Given the description of an element on the screen output the (x, y) to click on. 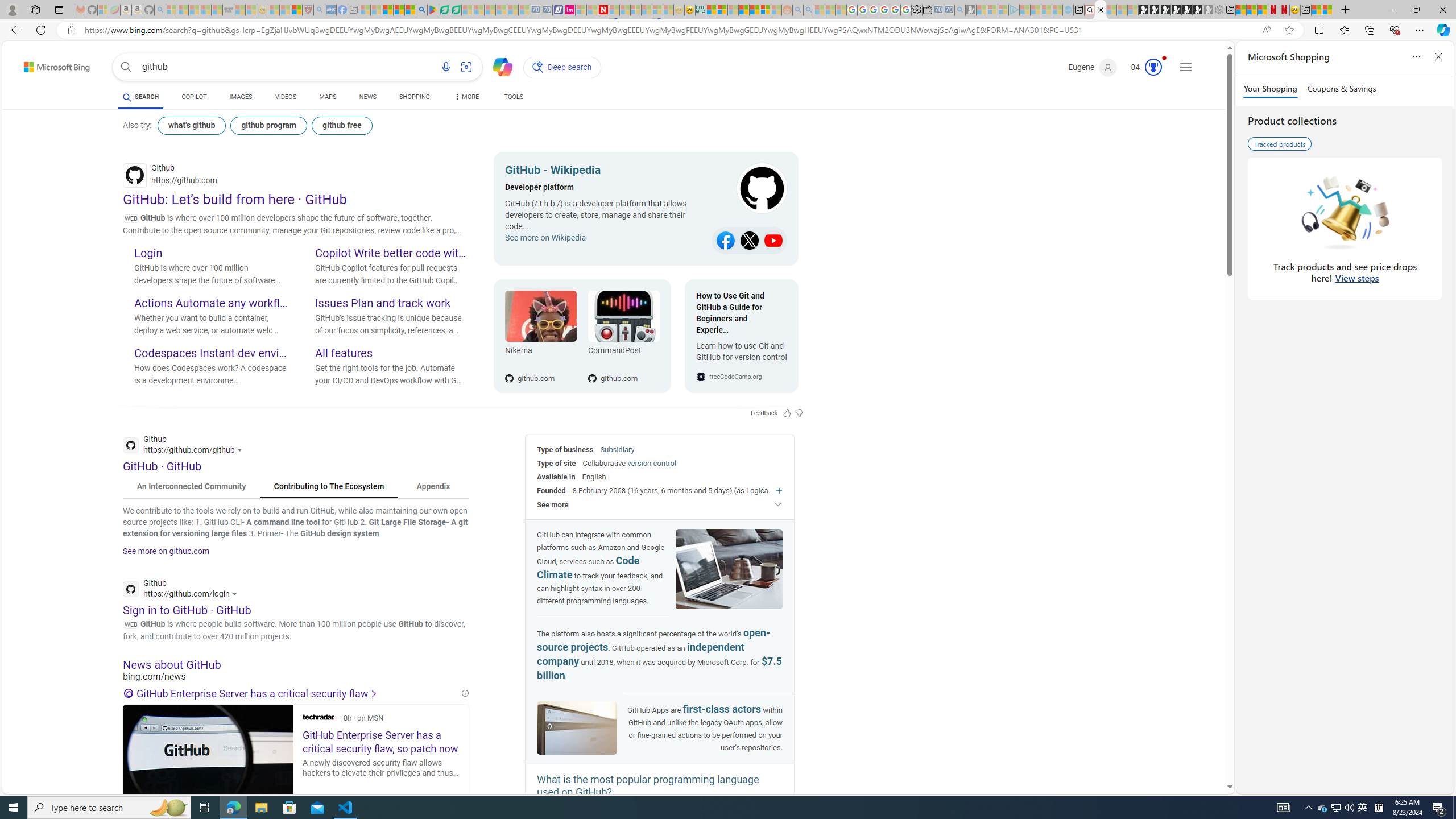
Feedback Like (786, 412)
All features (391, 353)
Image of GitHub (577, 728)
Codespaces Instant dev environments (210, 353)
SHOPPING (414, 96)
SEARCH (140, 96)
what's github (191, 125)
Pets - MSN (398, 9)
